Given the description of an element on the screen output the (x, y) to click on. 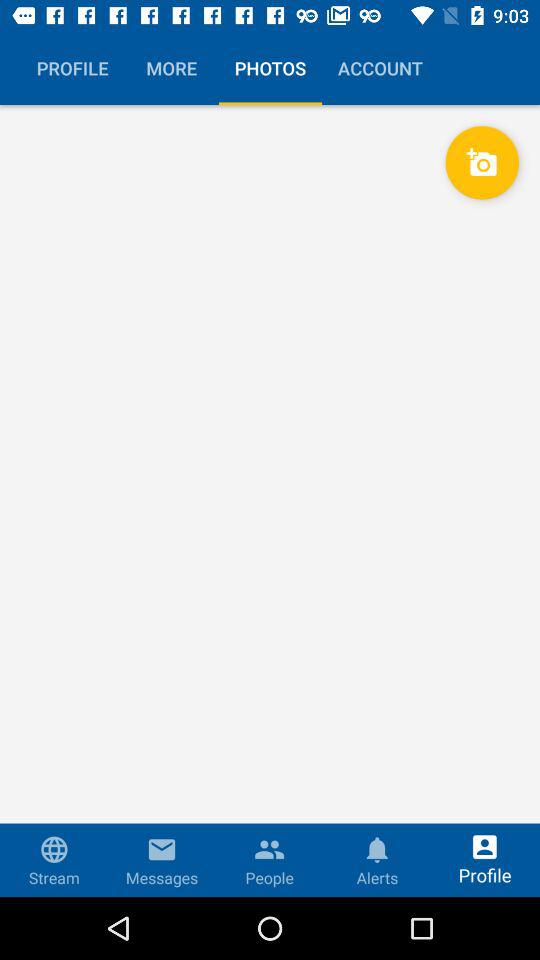
open item below the profile icon (270, 500)
